Given the description of an element on the screen output the (x, y) to click on. 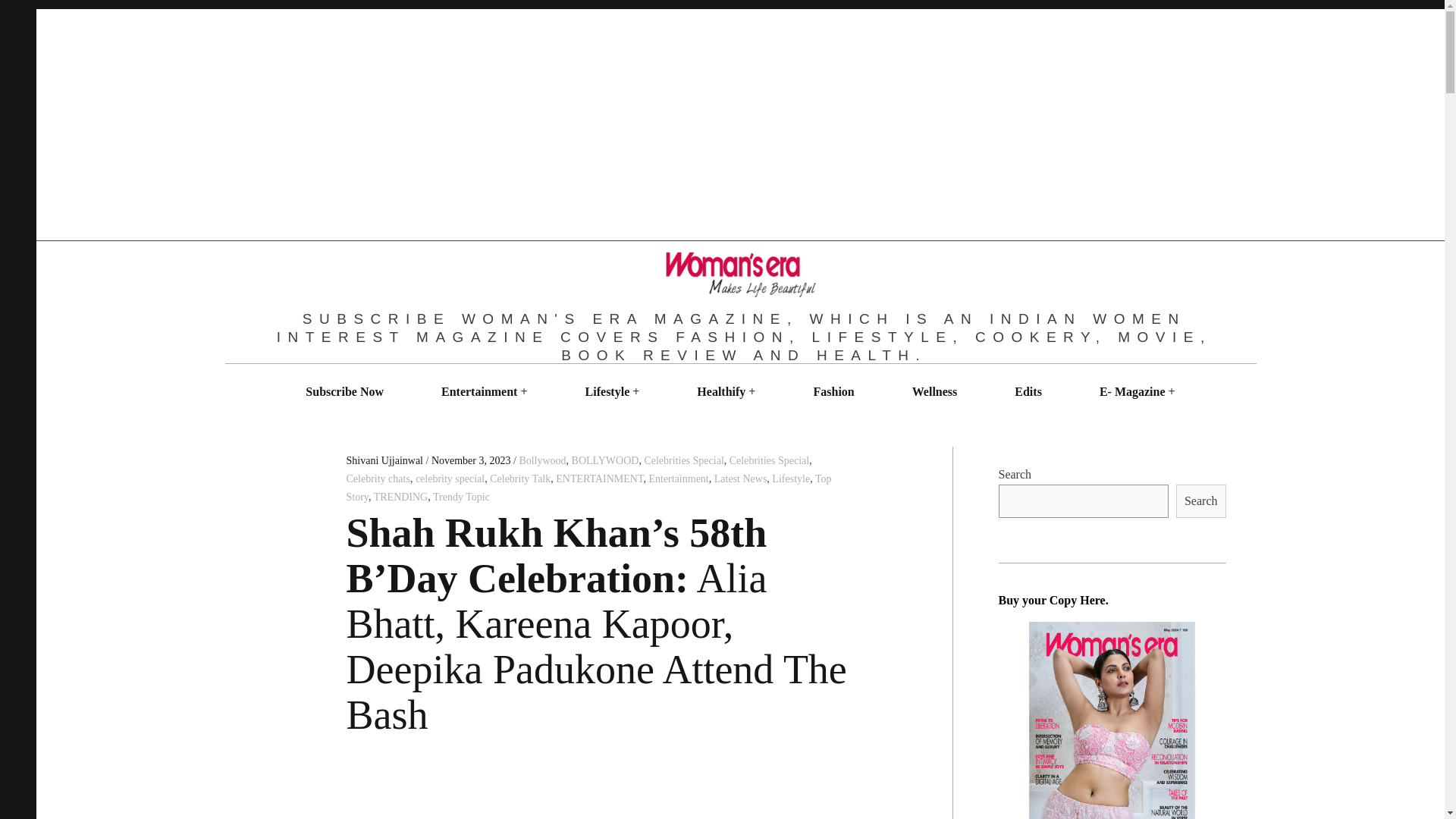
celebrity special (449, 478)
Fashion (833, 391)
WOMAN'S ERA (649, 366)
Latest News (740, 478)
Bollywood (542, 460)
Subscribe Now (344, 391)
Advertisement (603, 791)
Celebrity chats (377, 478)
Healthify (721, 391)
BOLLYWOOD (605, 460)
